Given the description of an element on the screen output the (x, y) to click on. 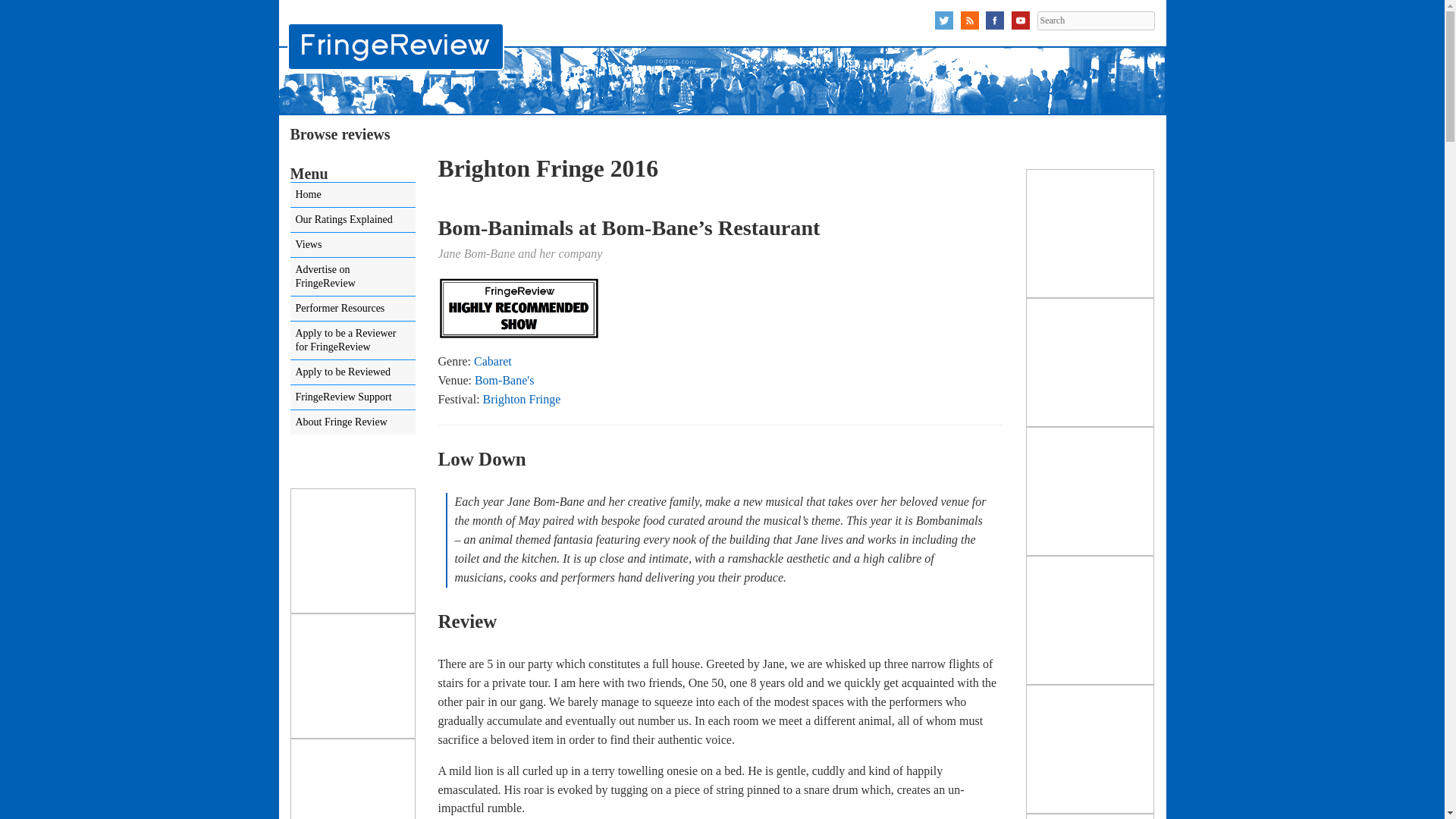
Performer Resources (351, 308)
Search for: (1095, 20)
Home (351, 194)
About Fringe Review (351, 422)
Apply to be a Reviewer for FringeReview (351, 340)
FringeReview Support (351, 396)
Apply to be Reviewed (351, 372)
Our Ratings Explained (351, 219)
Search (1095, 20)
Advertise on FringeReview (351, 276)
Search (1095, 20)
Views (351, 244)
